Given the description of an element on the screen output the (x, y) to click on. 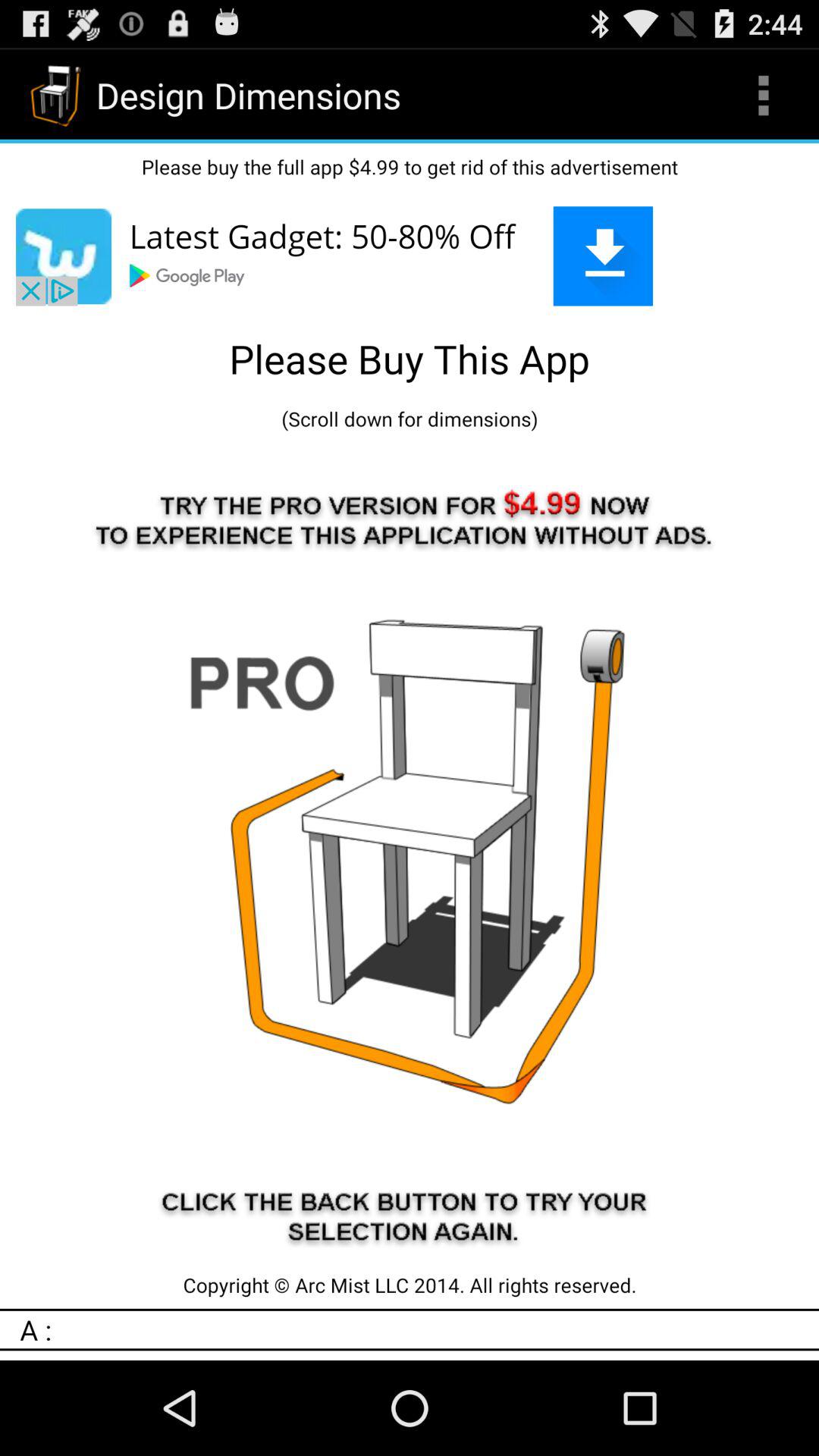
turn on app above please buy the item (763, 95)
